Given the description of an element on the screen output the (x, y) to click on. 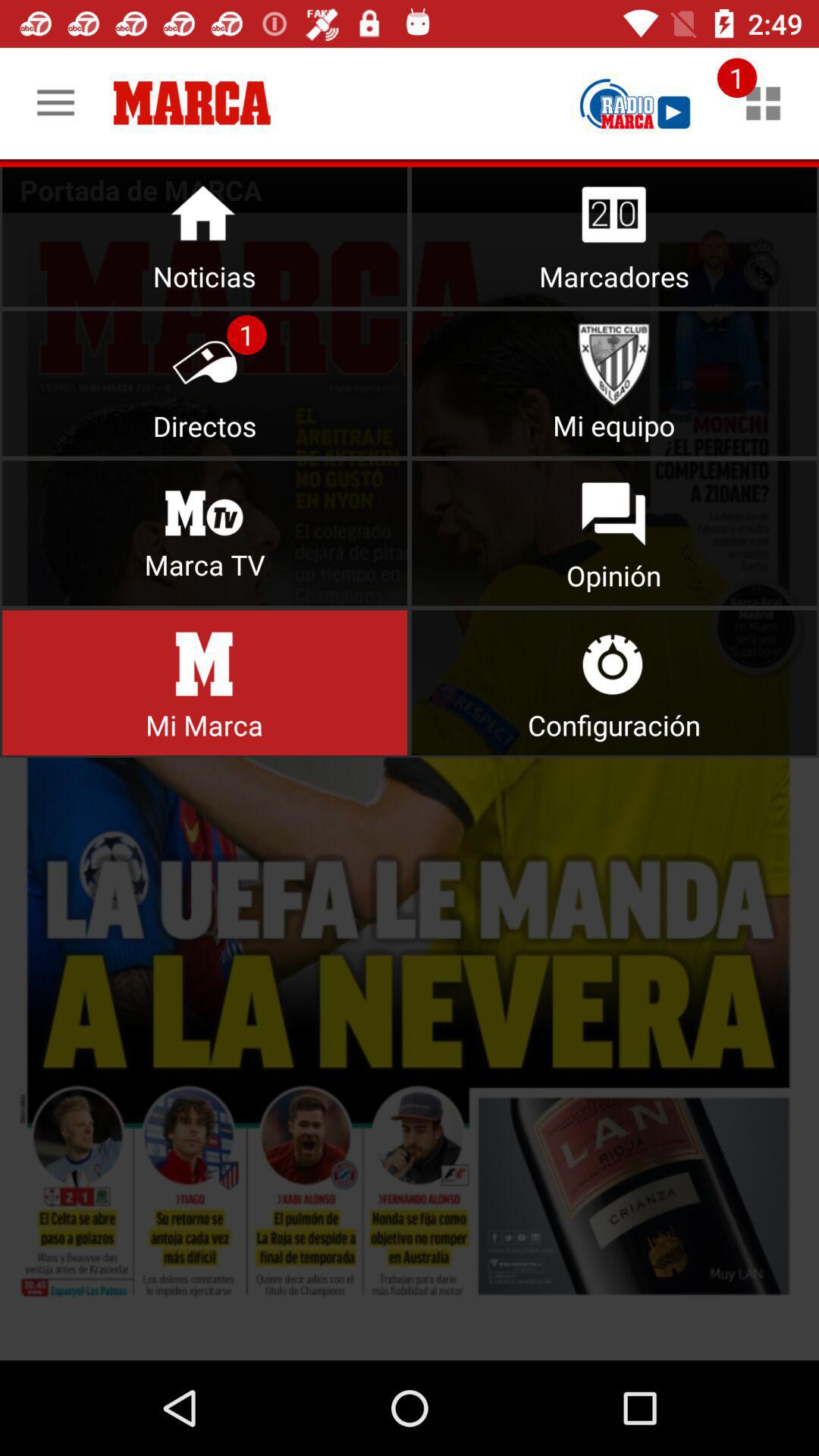
marcadores icon (614, 233)
